Given the description of an element on the screen output the (x, y) to click on. 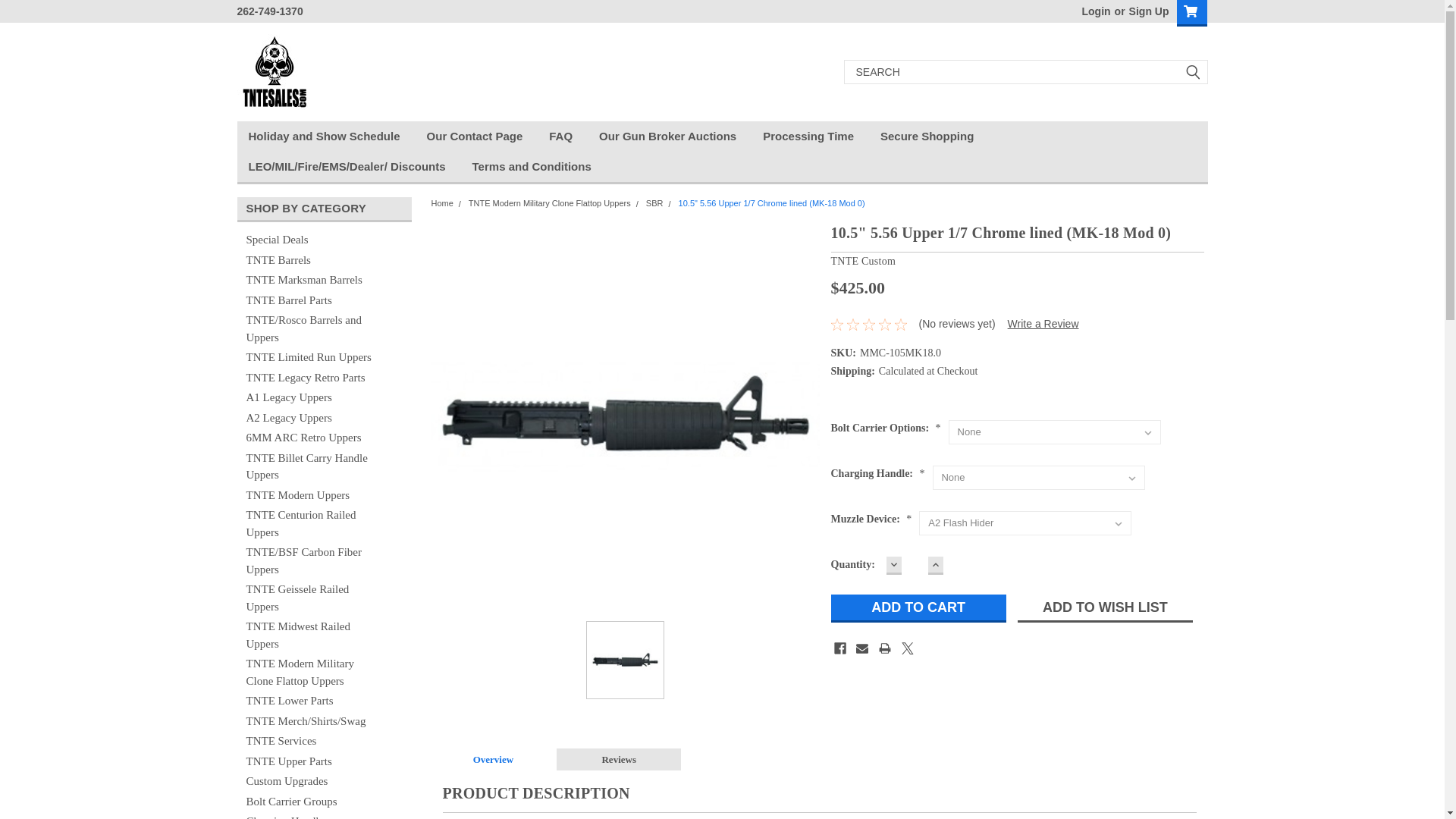
Login (1095, 11)
Facebook (839, 648)
Sign Up (1147, 11)
Print (885, 648)
Email (861, 648)
1 (914, 565)
TNTE Sales Inc. (274, 71)
Twitter (907, 648)
Add to Cart (918, 608)
submit (1192, 71)
